Given the description of an element on the screen output the (x, y) to click on. 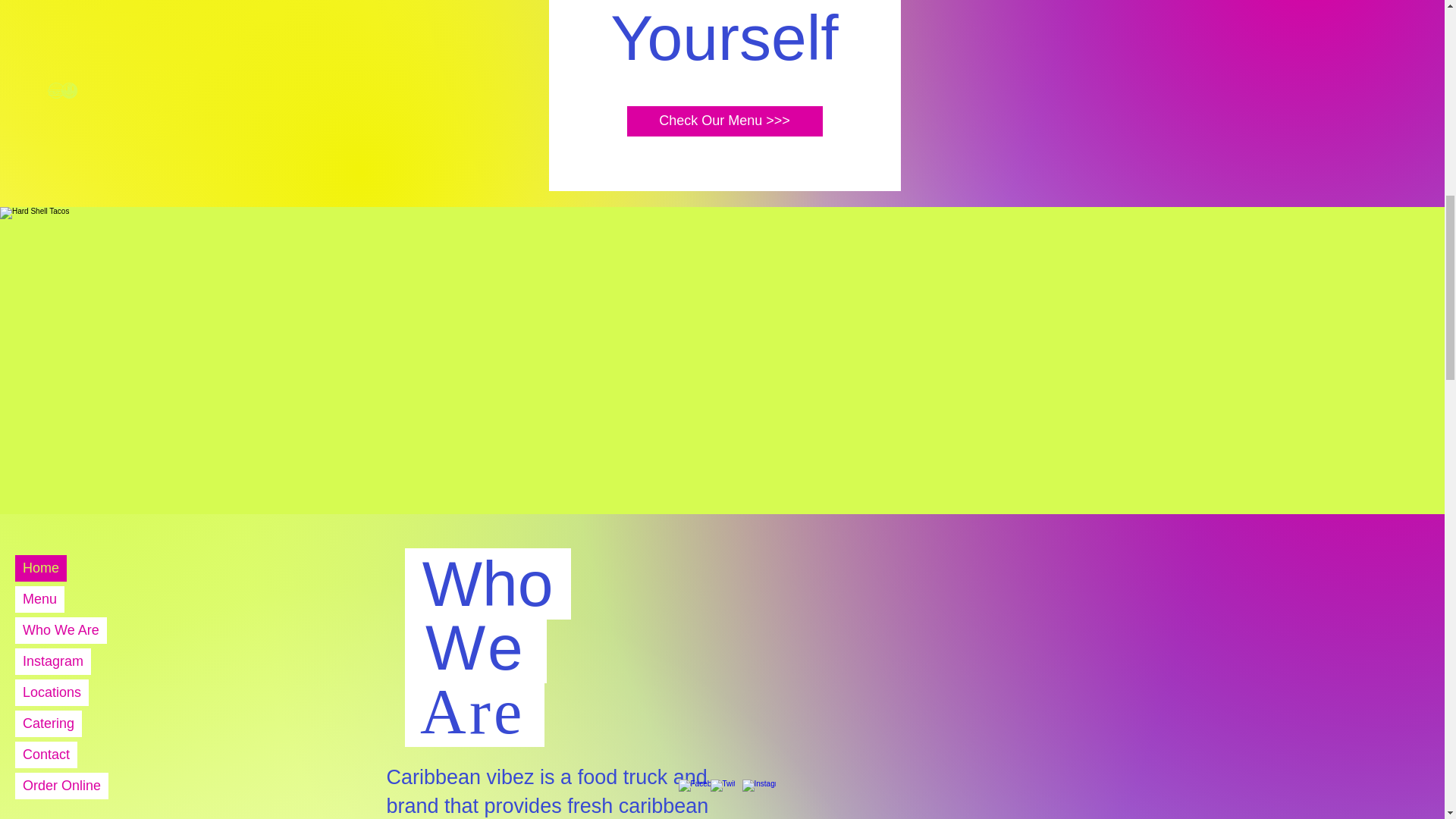
Log In (1040, 335)
